Given the description of an element on the screen output the (x, y) to click on. 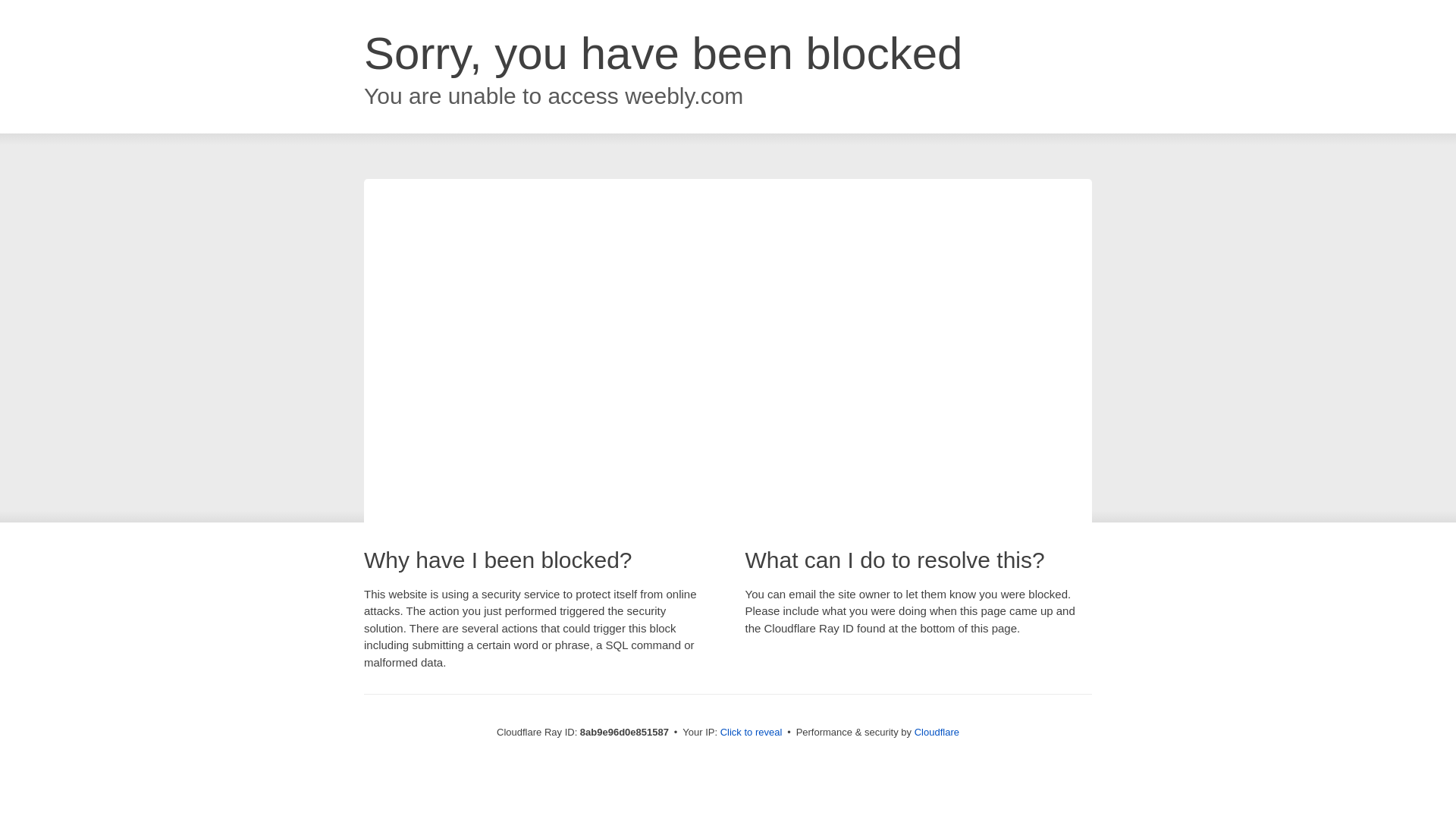
Click to reveal (751, 732)
Cloudflare (936, 731)
